Given the description of an element on the screen output the (x, y) to click on. 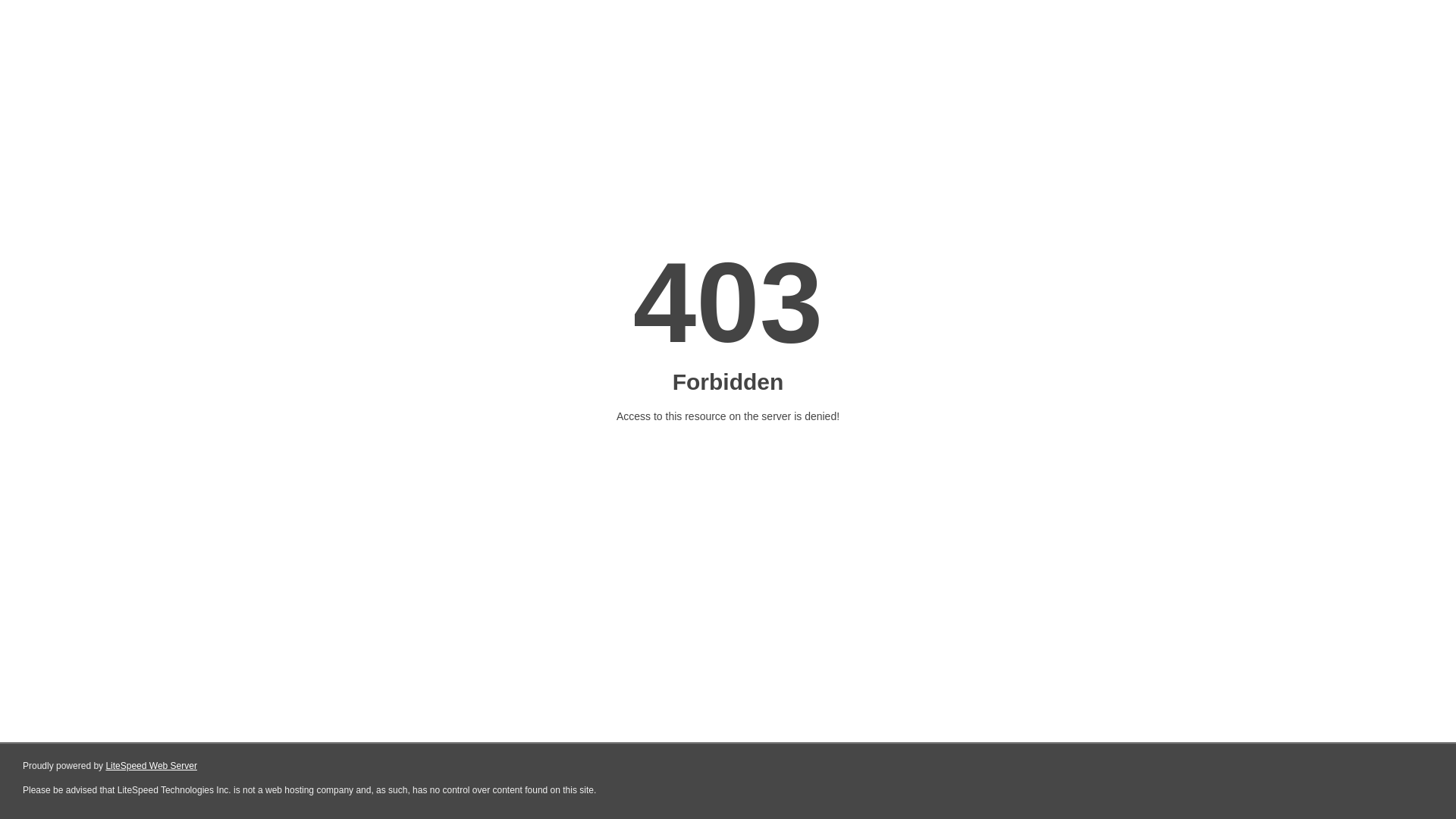
LiteSpeed Web Server Element type: text (151, 765)
